Given the description of an element on the screen output the (x, y) to click on. 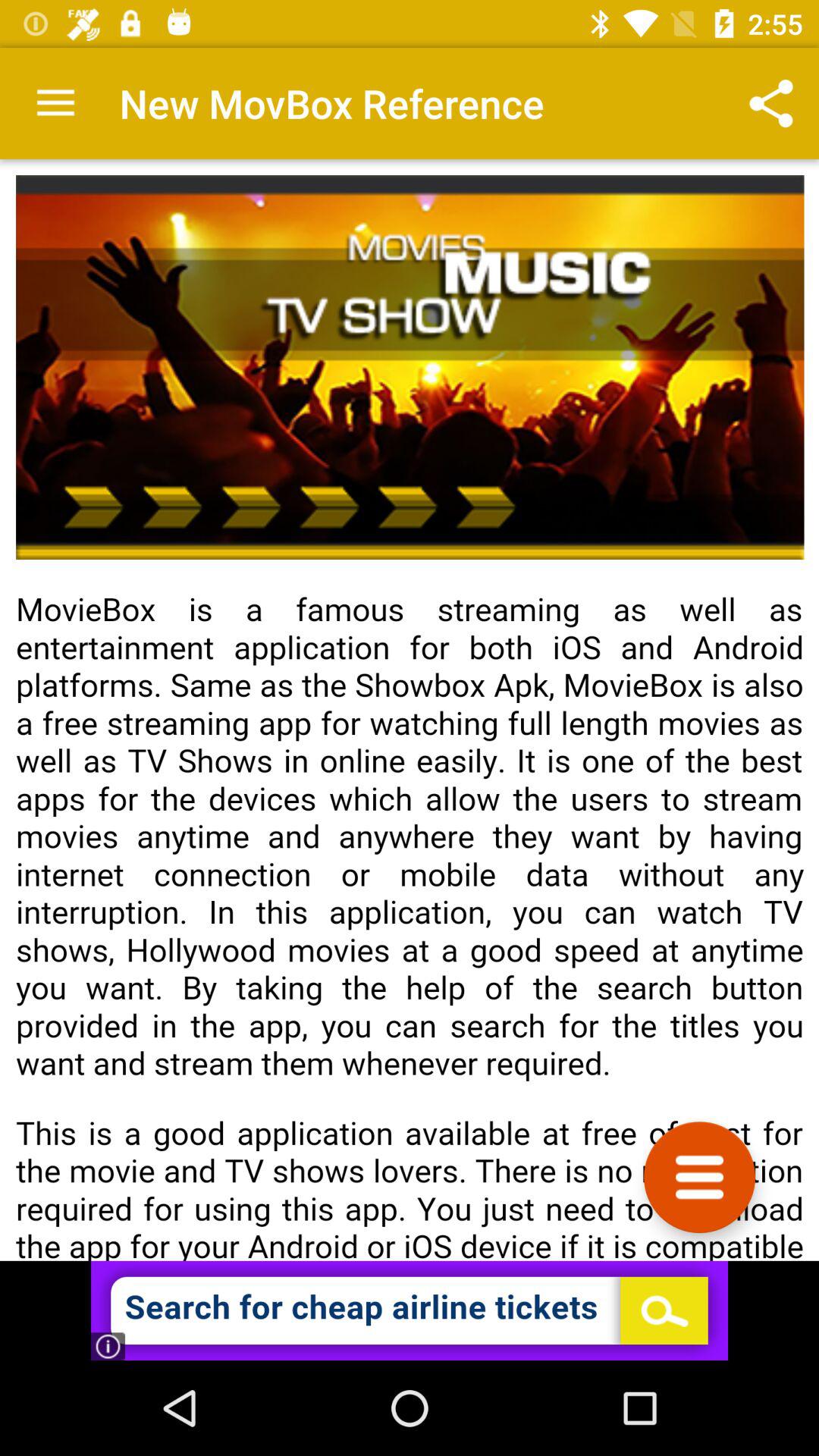
click side menu option (699, 1177)
